Given the description of an element on the screen output the (x, y) to click on. 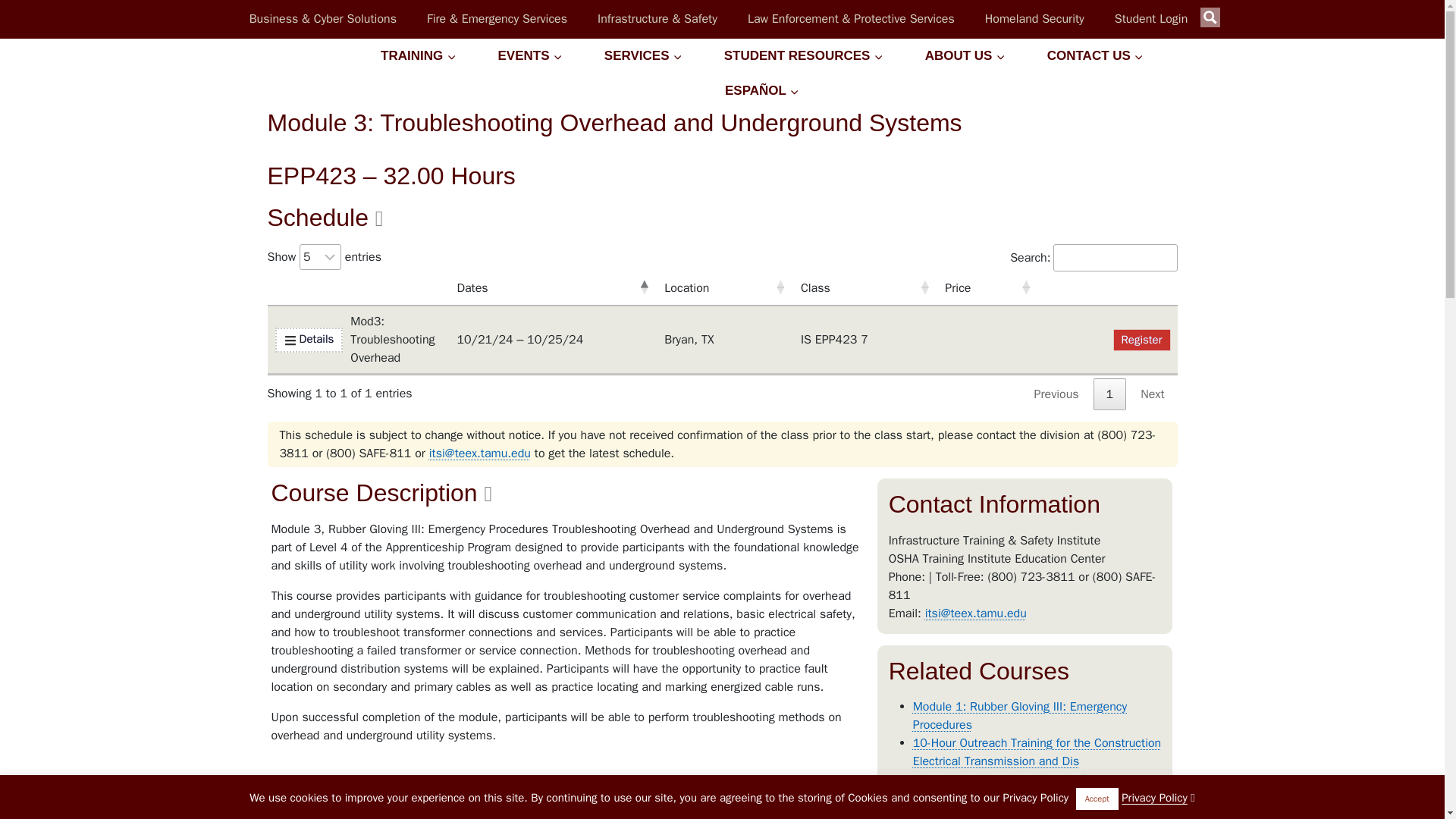
Details for EPP423 (308, 339)
Register for EPP423 7 (721, 288)
Homeland Security (721, 288)
EVENTS (1141, 340)
Student Login (1034, 18)
SERVICES (530, 55)
TRAINING (1151, 18)
